Given the description of an element on the screen output the (x, y) to click on. 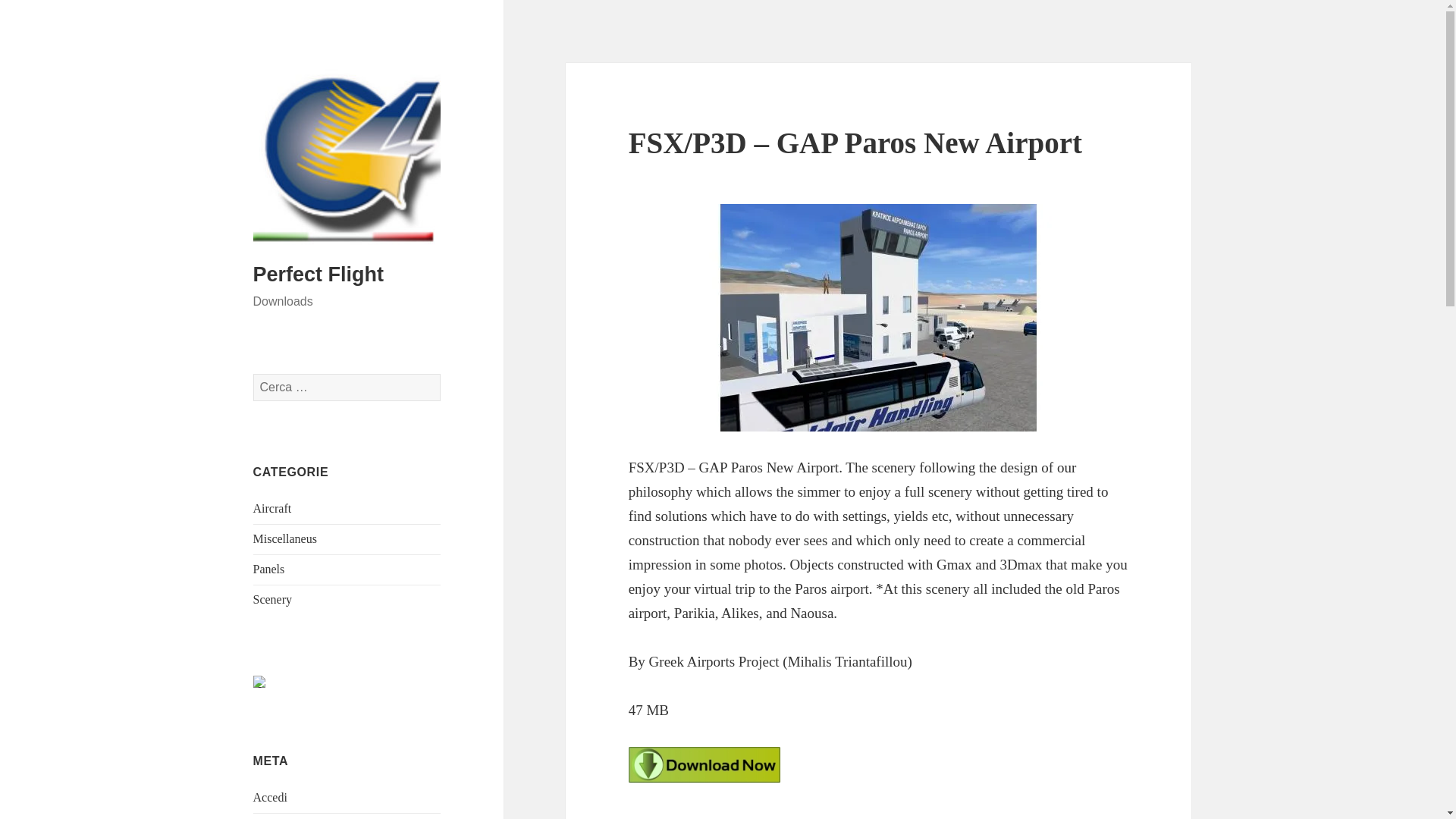
Miscellaneus (285, 538)
Perfect Flight (318, 273)
Scenery (272, 599)
Panels (269, 568)
Aircraft (272, 508)
Accedi (269, 797)
